Given the description of an element on the screen output the (x, y) to click on. 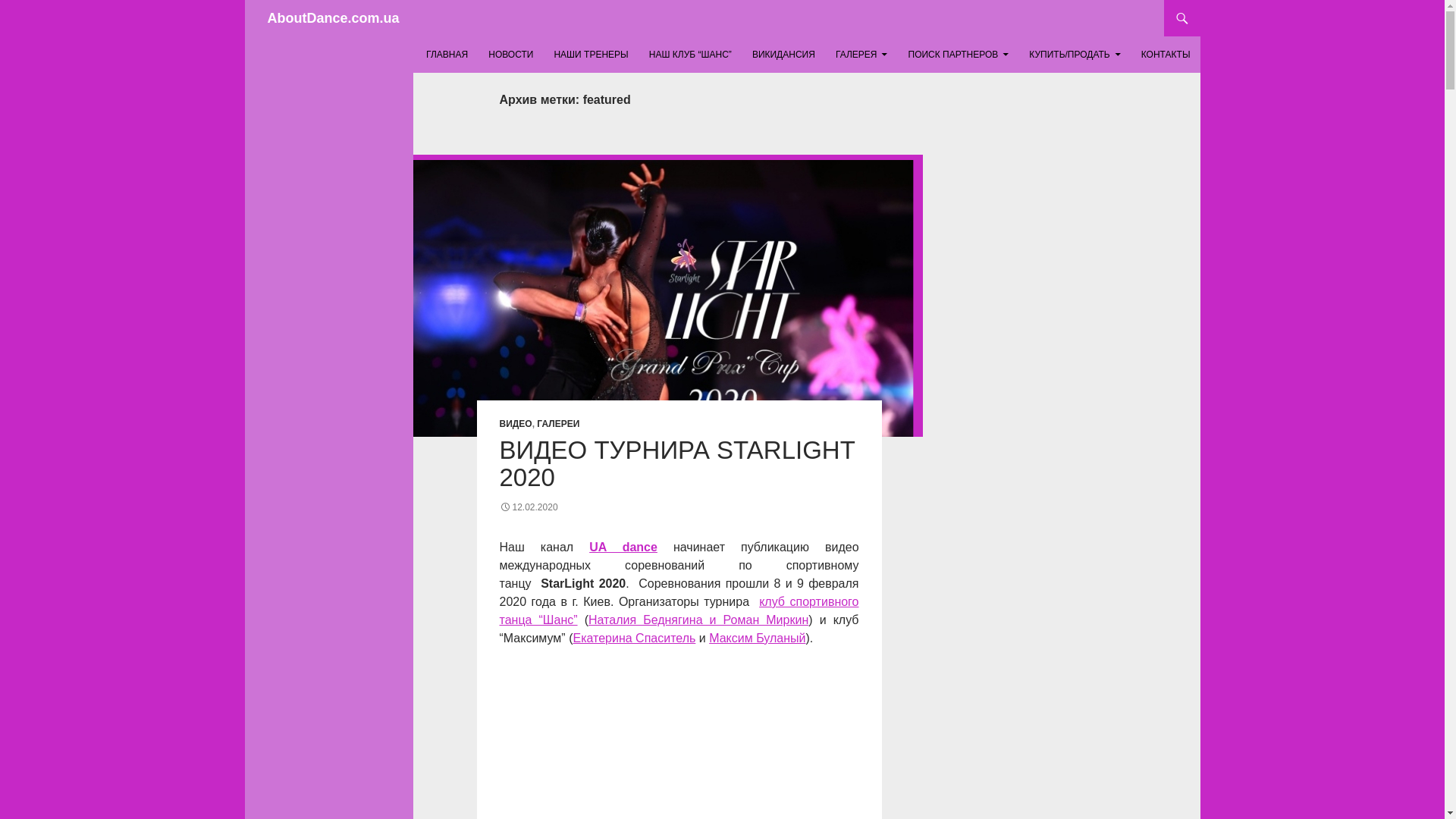
12.02.2020 (528, 507)
AboutDance.com.ua (332, 18)
2020 StarLight Grand Prix Cup (679, 742)
UA dance (623, 546)
